Given the description of an element on the screen output the (x, y) to click on. 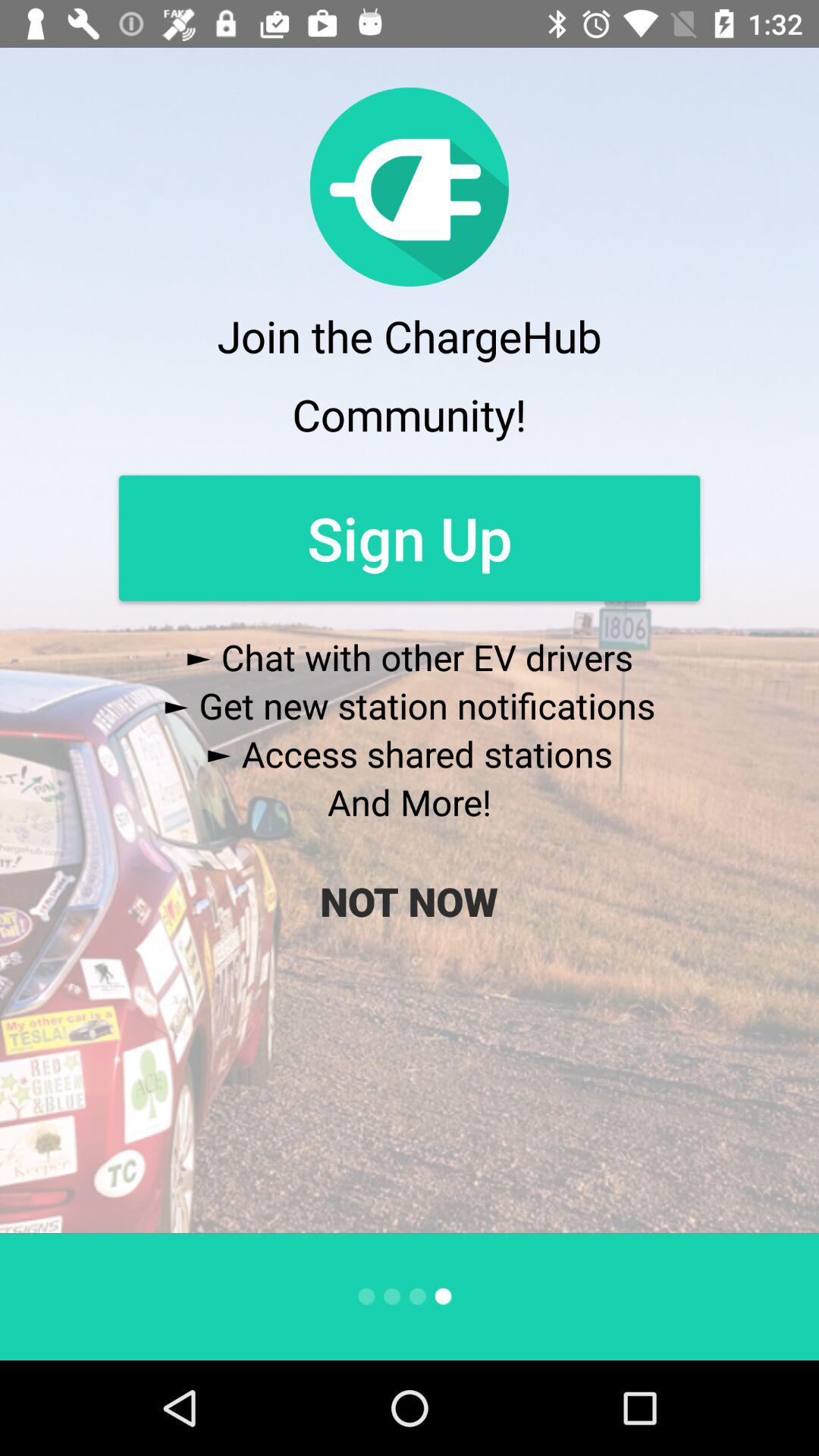
turn off the icon below the and more! (409, 901)
